Given the description of an element on the screen output the (x, y) to click on. 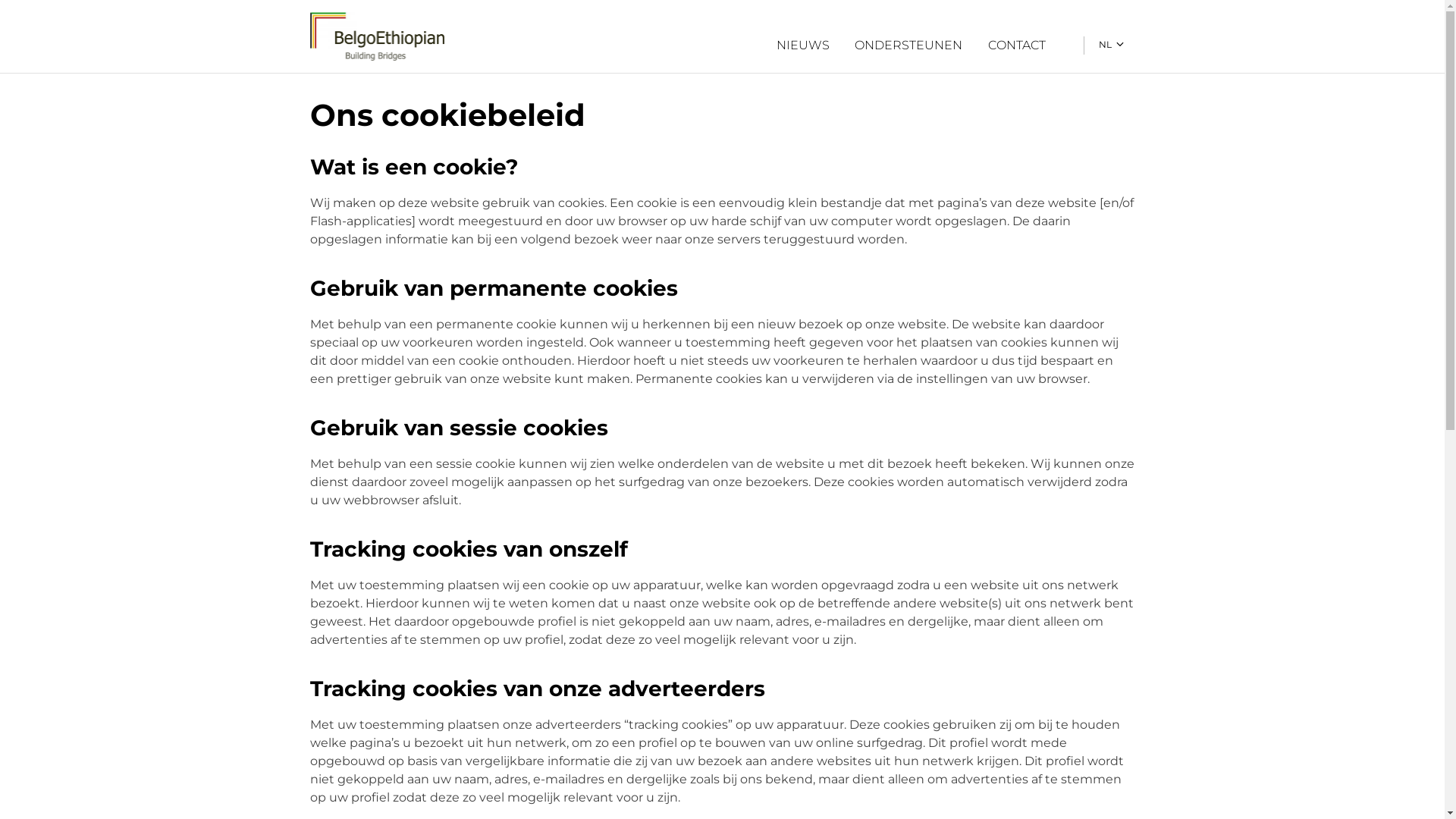
NIEUWS Element type: text (803, 45)
ONDERSTEUNEN Element type: text (908, 45)
CONTACT Element type: text (1018, 45)
